Given the description of an element on the screen output the (x, y) to click on. 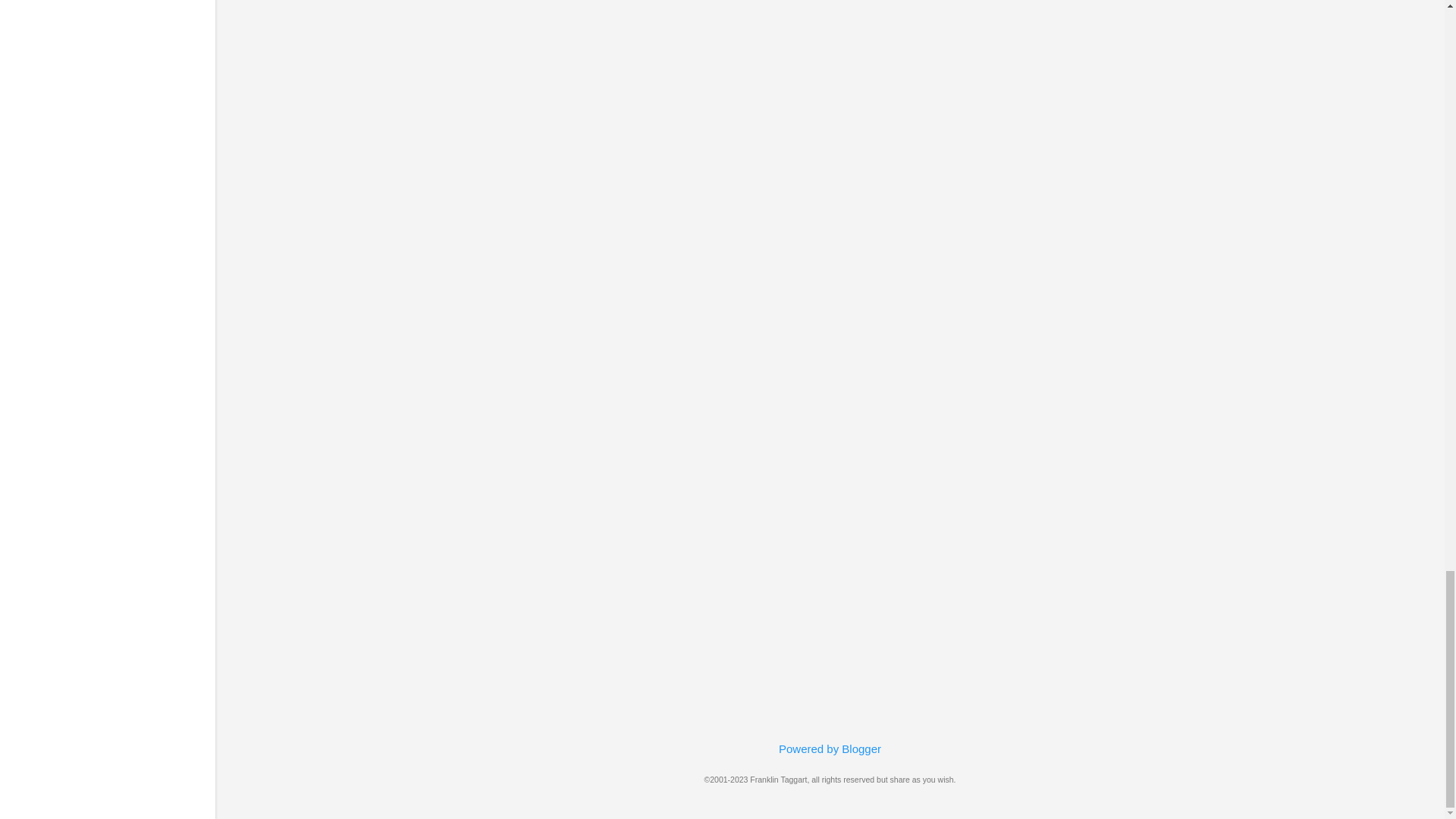
Powered by Blogger (829, 748)
